Given the description of an element on the screen output the (x, y) to click on. 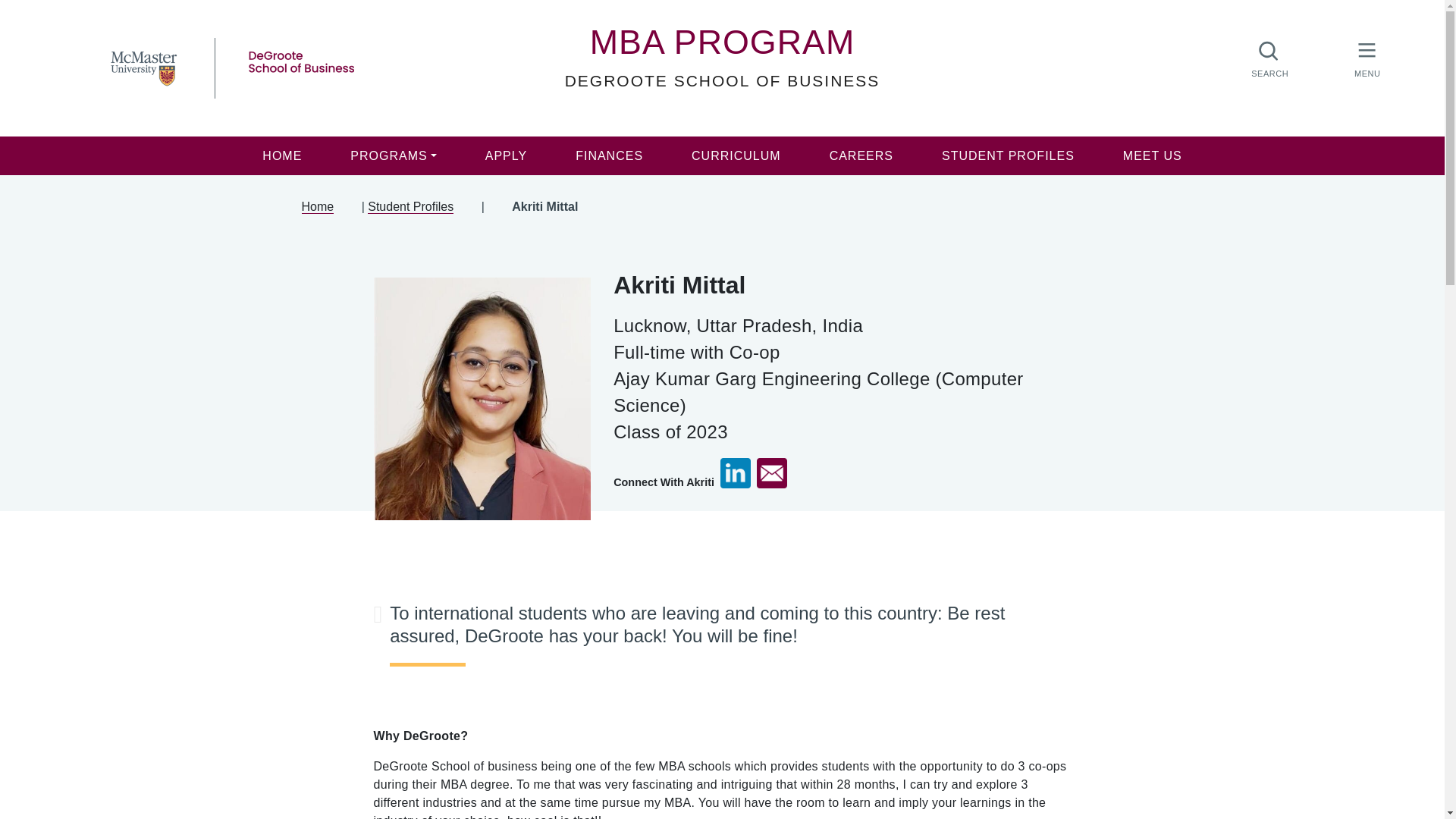
MEET US (1153, 155)
Home (317, 206)
CAREERS (861, 155)
APPLY (506, 155)
MBA PROGRAM (722, 41)
HOME (282, 155)
FINANCES (608, 155)
CURRICULUM (735, 155)
PROGRAMS (393, 155)
Student Profiles (410, 206)
STUDENT PROFILES (1008, 155)
